Given the description of an element on the screen output the (x, y) to click on. 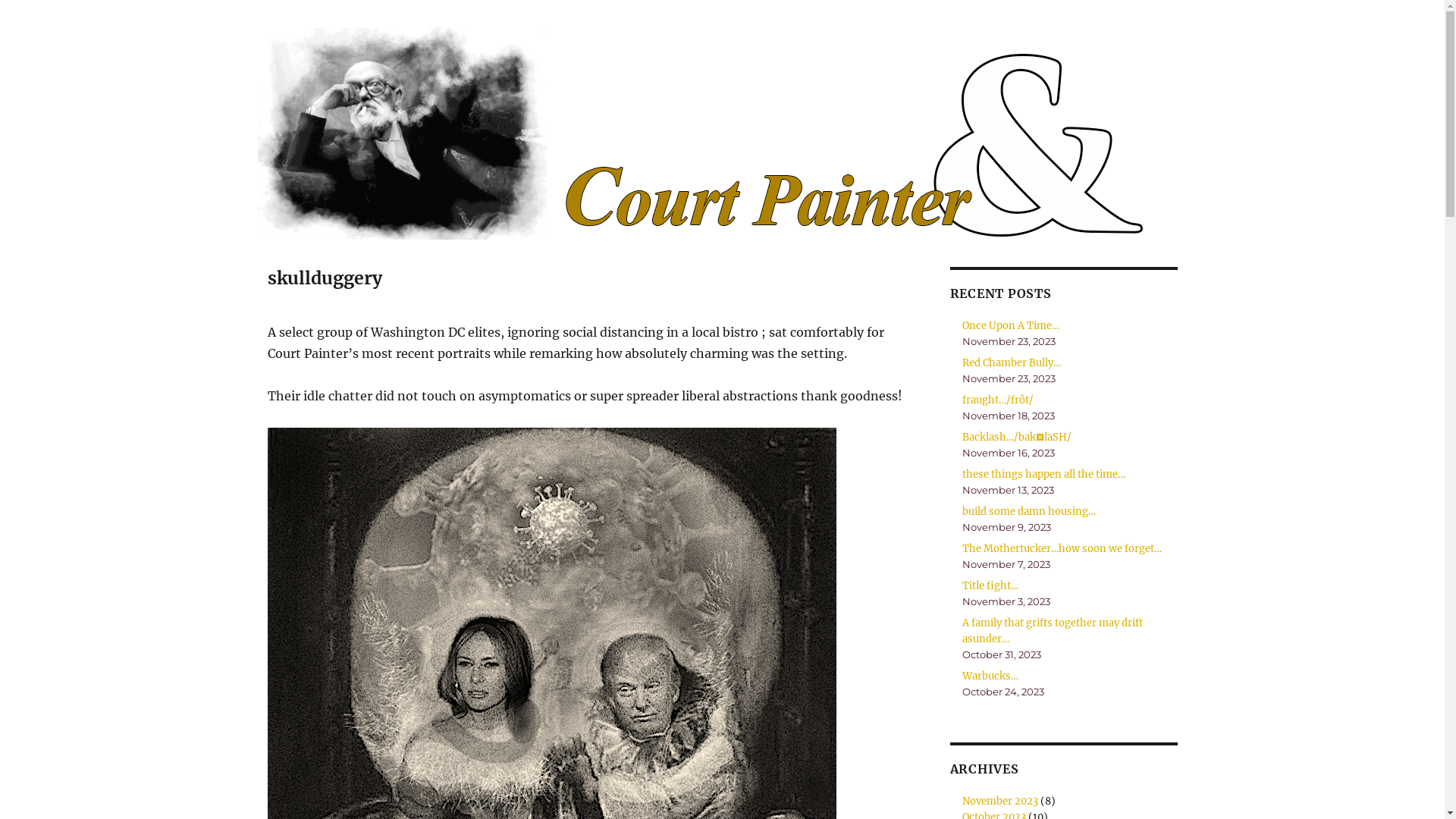
November 2023 Element type: text (1000, 800)
The Court Painter Element type: text (343, 18)
